Given the description of an element on the screen output the (x, y) to click on. 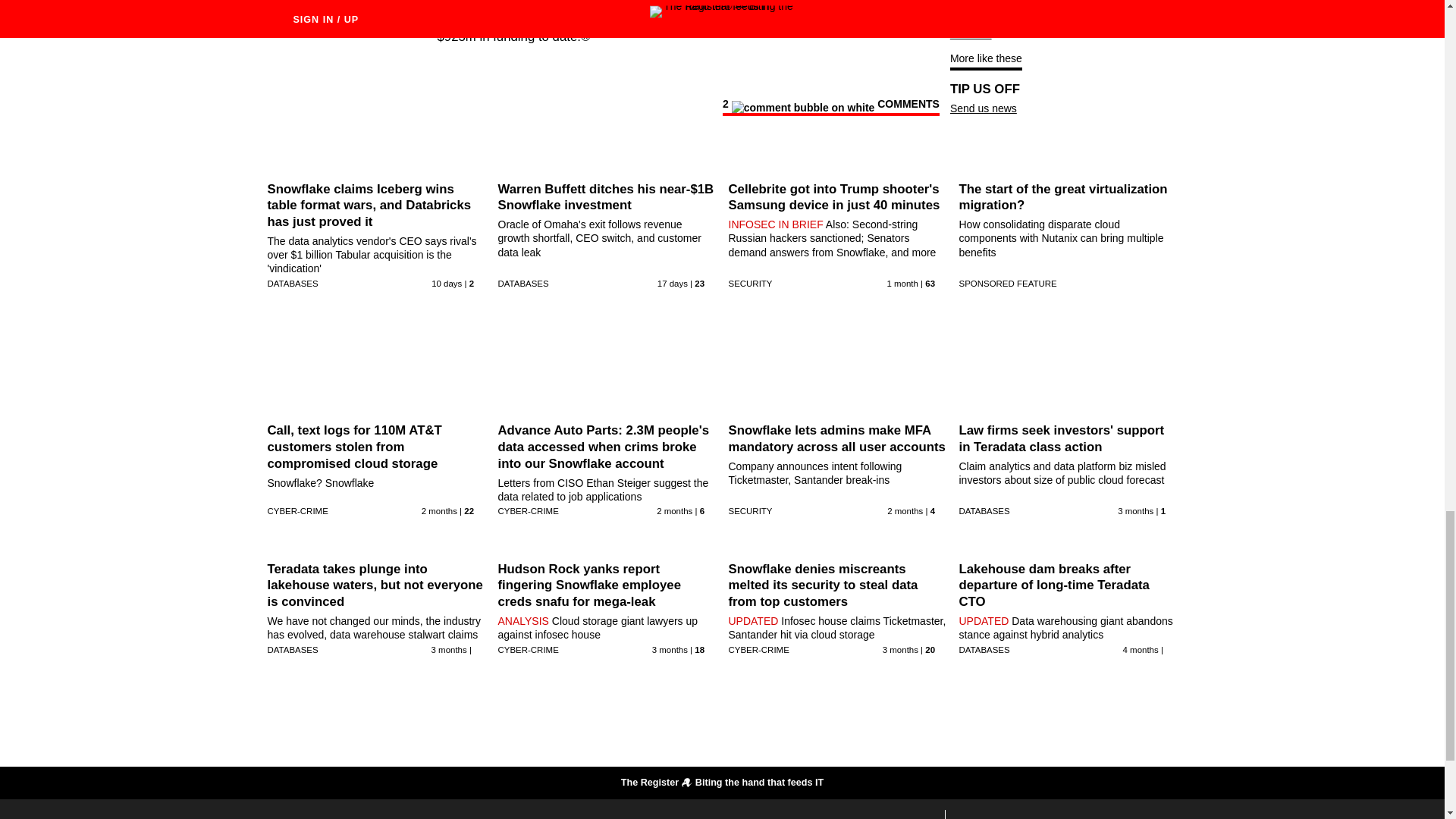
22 Aug 2024 23:45 (445, 283)
10 Jul 2024 16:45 (904, 510)
12 Jul 2024 14:9 (439, 510)
11 Jul 2024 13:15 (674, 510)
View comments on this article (830, 106)
22 Jul 2024 3:44 (901, 283)
16 Aug 2024 13:45 (672, 283)
